Given the description of an element on the screen output the (x, y) to click on. 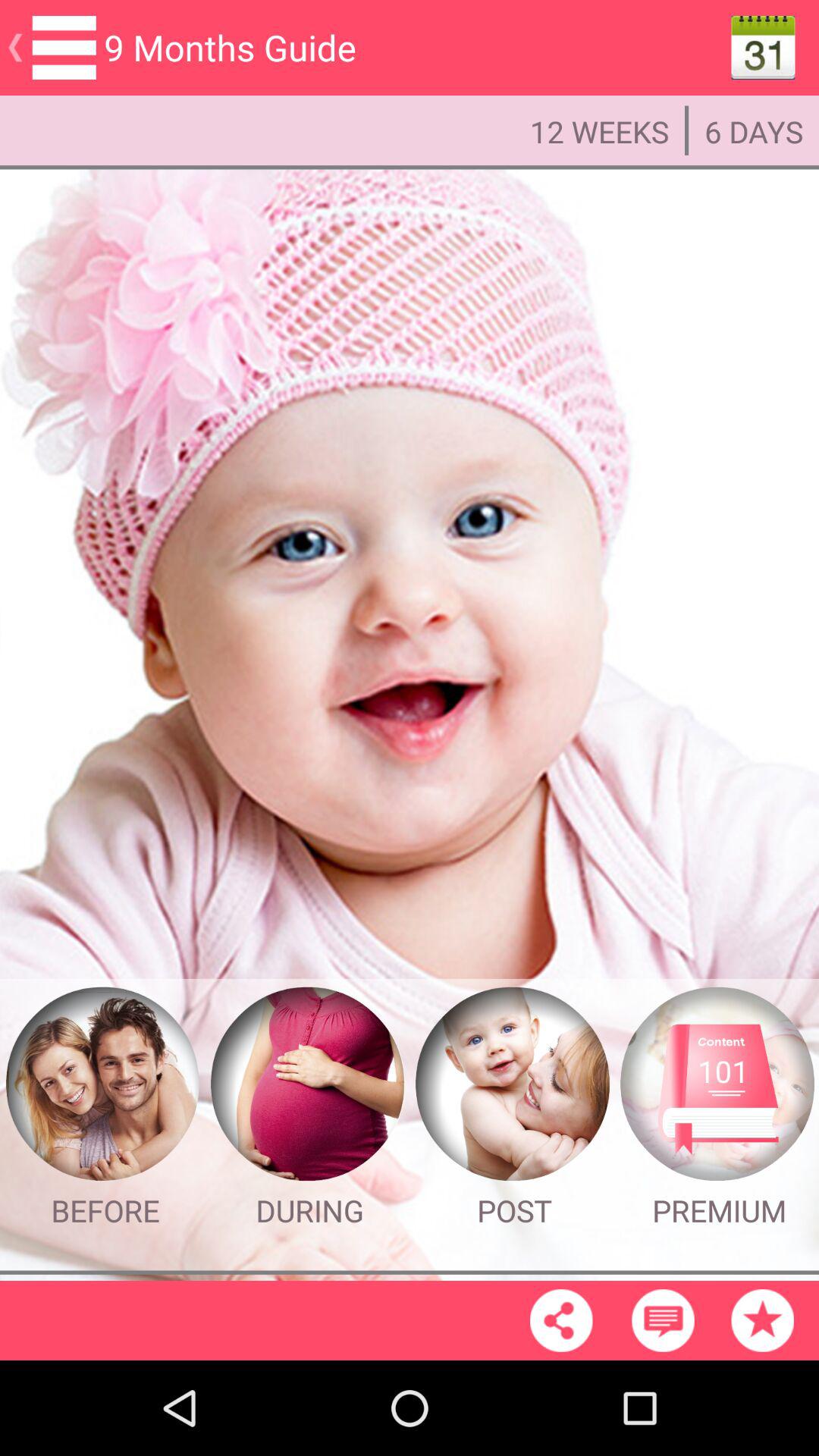
select the image (306, 1084)
